Given the description of an element on the screen output the (x, y) to click on. 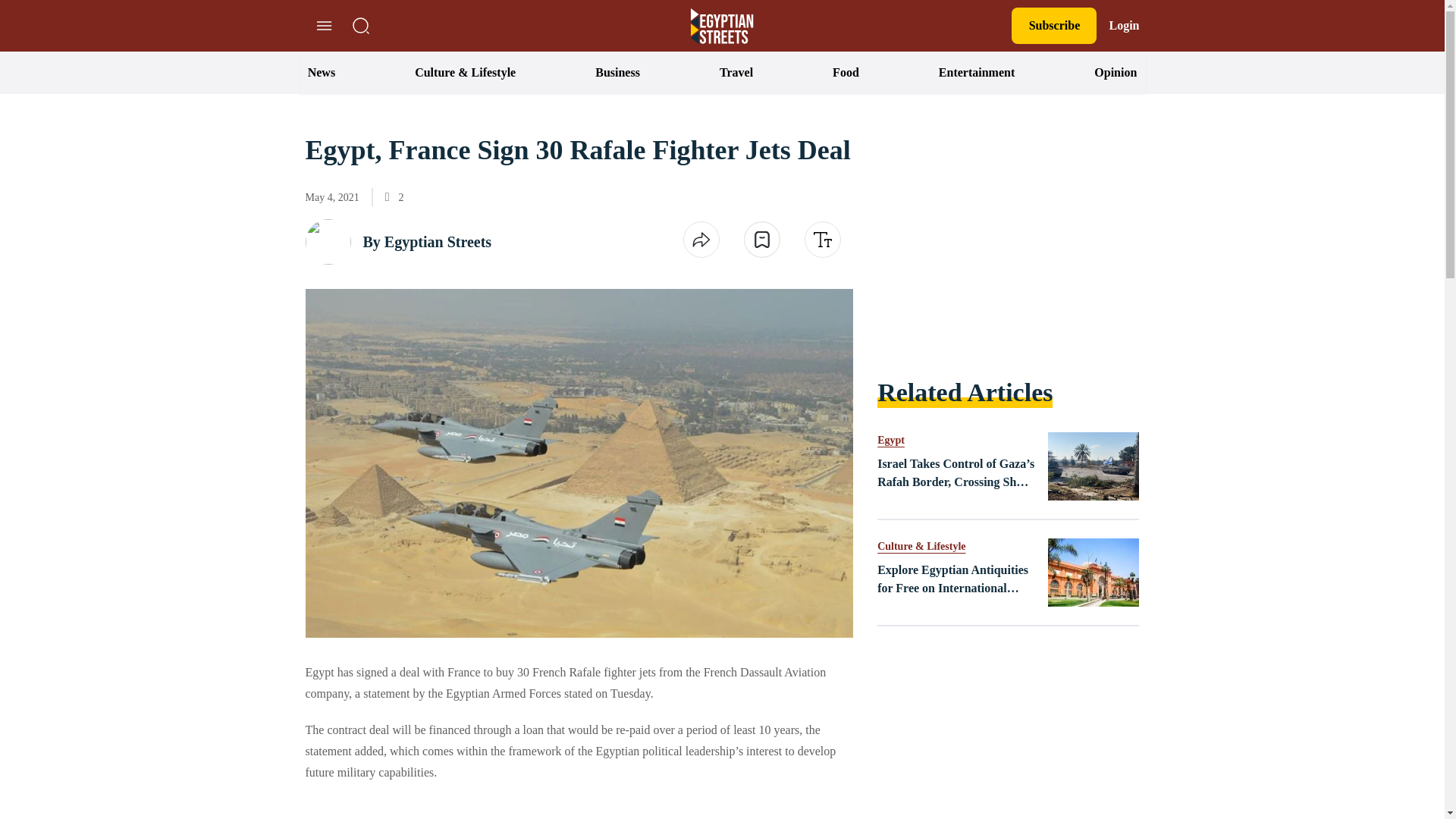
Login (1123, 25)
Subscribe (1053, 25)
